Given the description of an element on the screen output the (x, y) to click on. 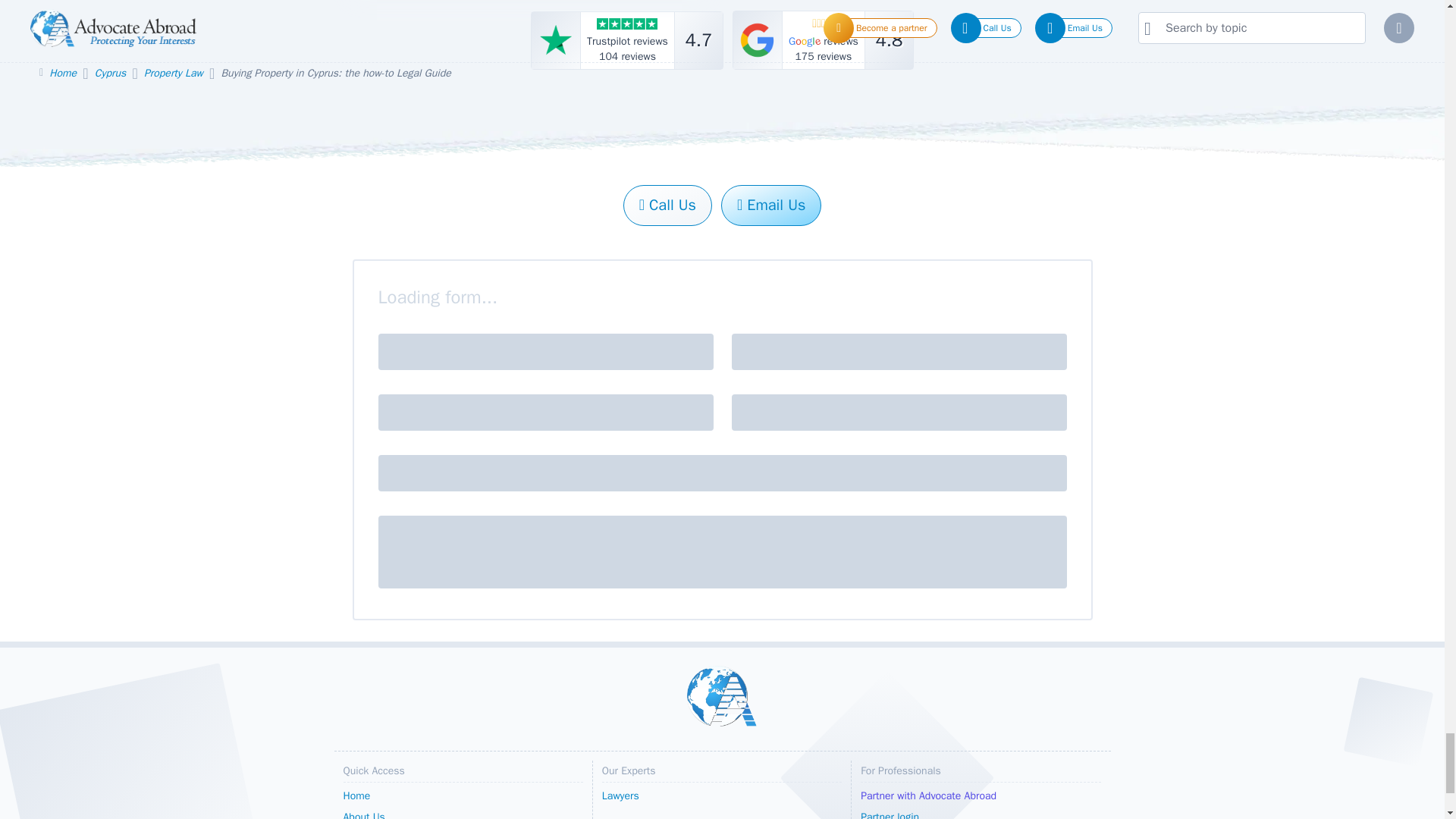
About Us (462, 812)
Home (627, 39)
Lawyers in Cyprus (823, 39)
